Given the description of an element on the screen output the (x, y) to click on. 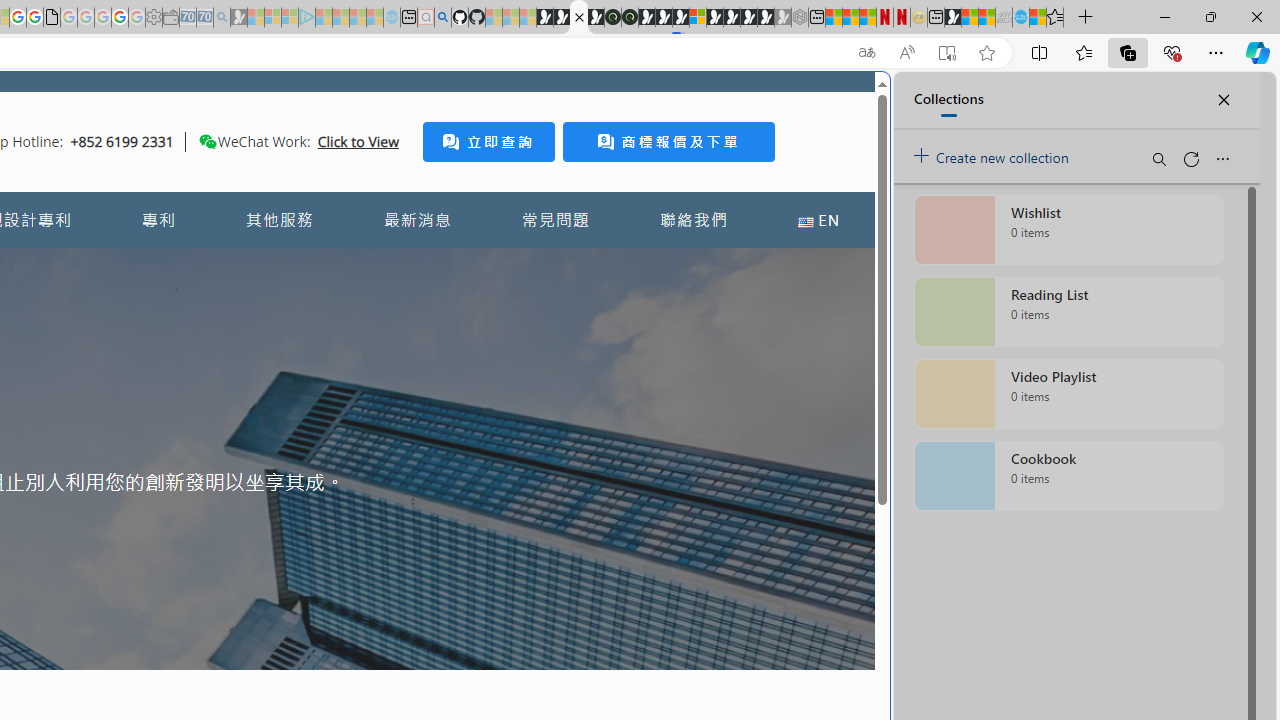
World - MSN (969, 17)
Future Focus Report 2024 (629, 17)
Class: desktop (207, 141)
Earth has six continents not seven, radical new study claims (986, 17)
Play Cave FRVR in your browser | Games from Microsoft Start (343, 426)
